Given the description of an element on the screen output the (x, y) to click on. 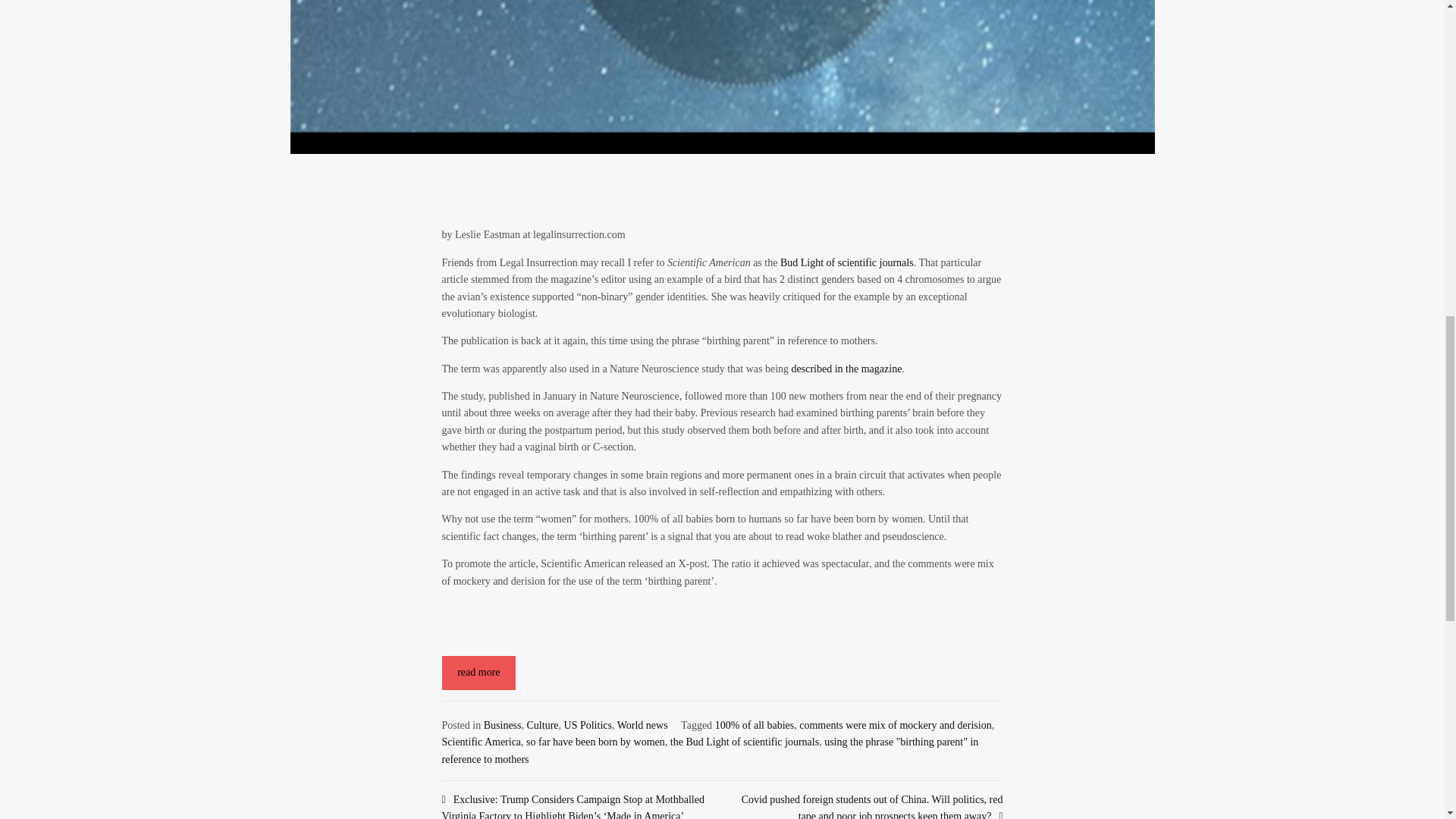
Culture (543, 725)
comments were mix of mockery and derision (895, 725)
Business (502, 725)
World news (642, 725)
Bud Light of scientific journals (847, 262)
the Bud Light of scientific journals (743, 741)
so far have been born by women (595, 741)
read more (478, 673)
Scientific America (481, 741)
using the phrase "birthing parent" in reference to mothers (709, 750)
described in the magazine (847, 368)
US Politics (587, 725)
